Given the description of an element on the screen output the (x, y) to click on. 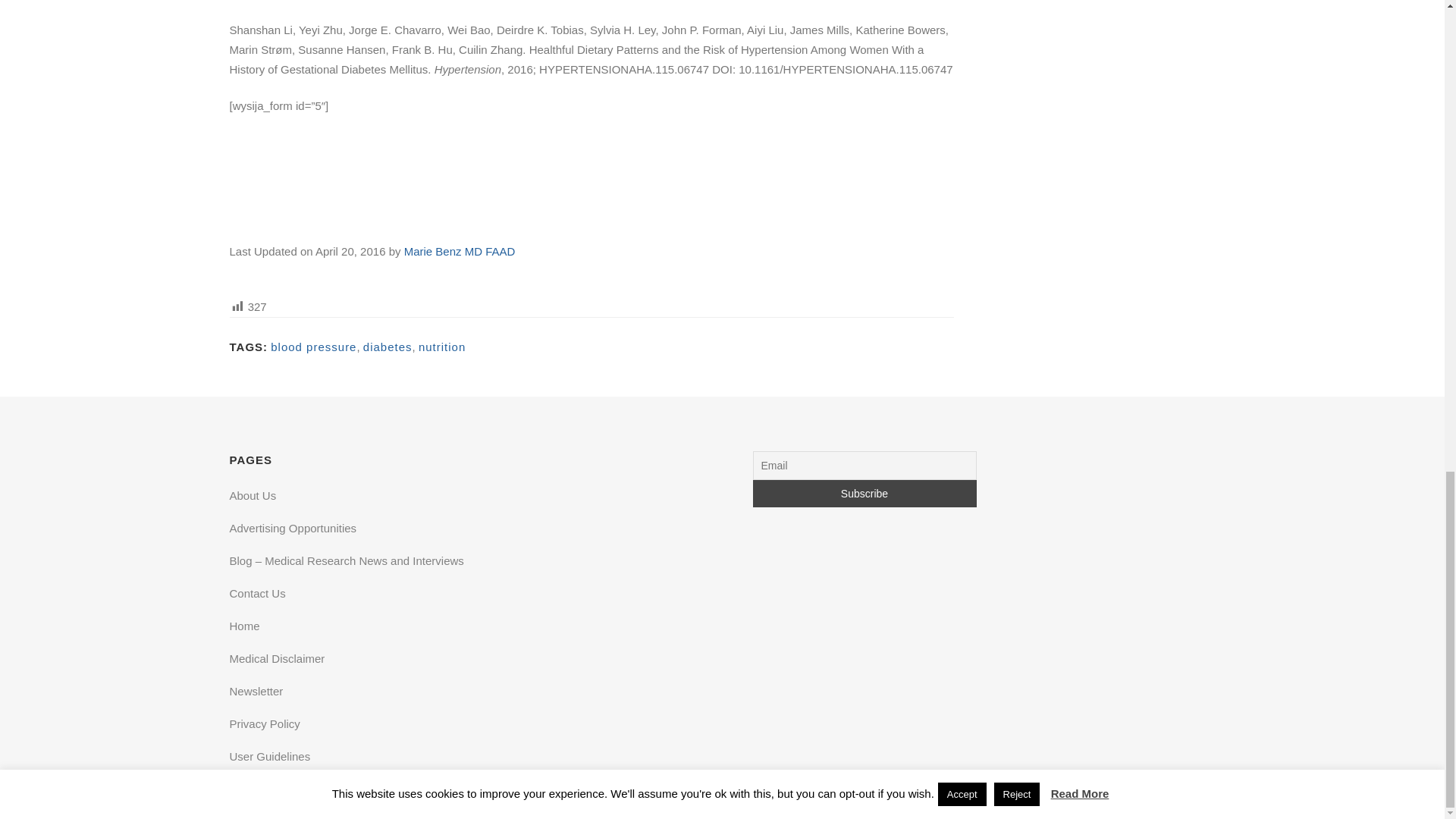
Subscribe (863, 492)
